Given the description of an element on the screen output the (x, y) to click on. 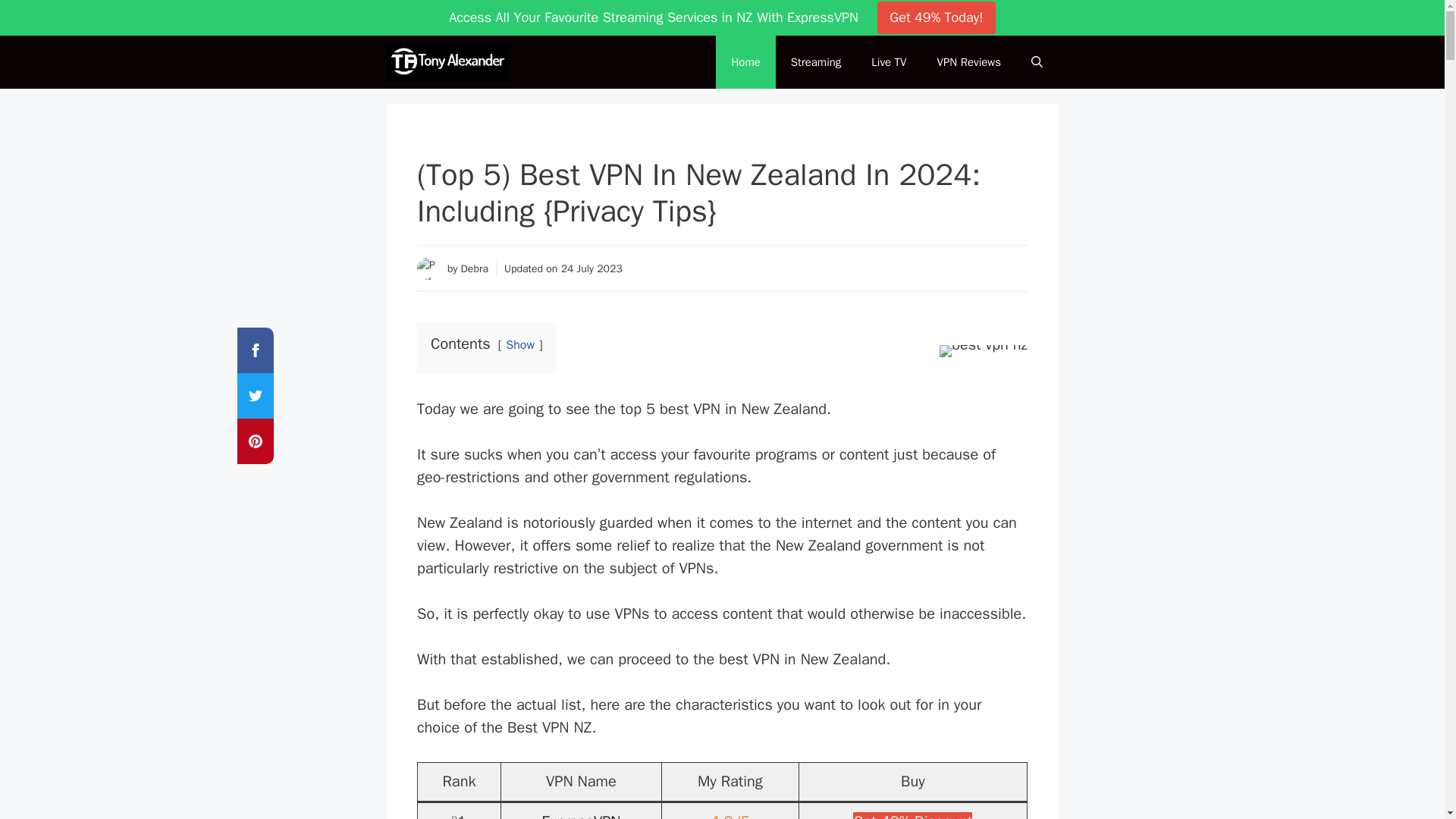
Tony Alexander (447, 62)
Streaming (816, 62)
expressvpn (912, 815)
Live TV (888, 62)
Show (519, 344)
VPN Reviews (968, 62)
Tony Alexander (451, 62)
Home (745, 62)
